Given the description of an element on the screen output the (x, y) to click on. 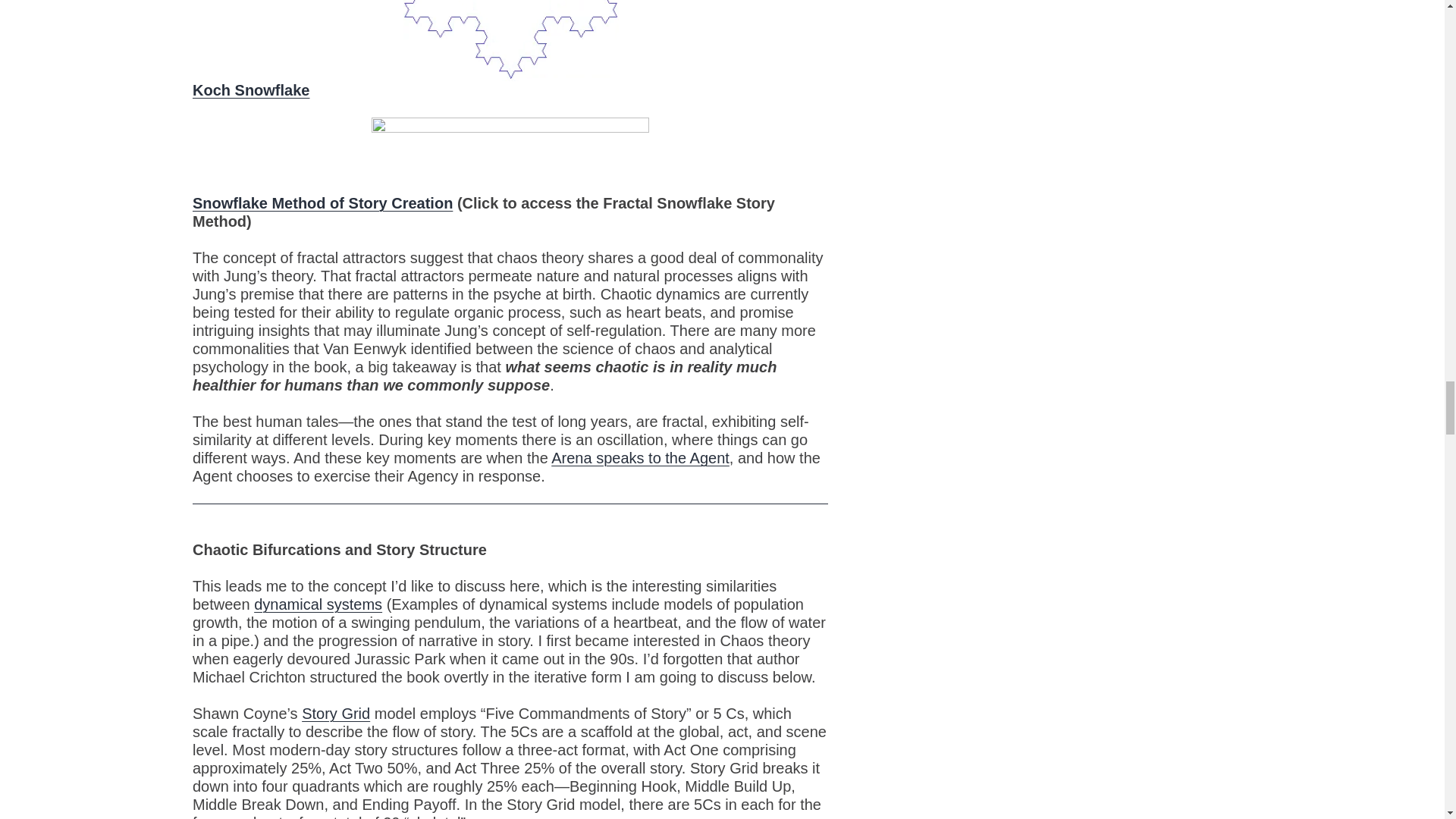
dynamical systems (317, 604)
Story Grid (335, 713)
Snowflake Method of Story Creation (322, 202)
Arena speaks to the Agent (640, 457)
Koch Snowflake (250, 89)
